Given the description of an element on the screen output the (x, y) to click on. 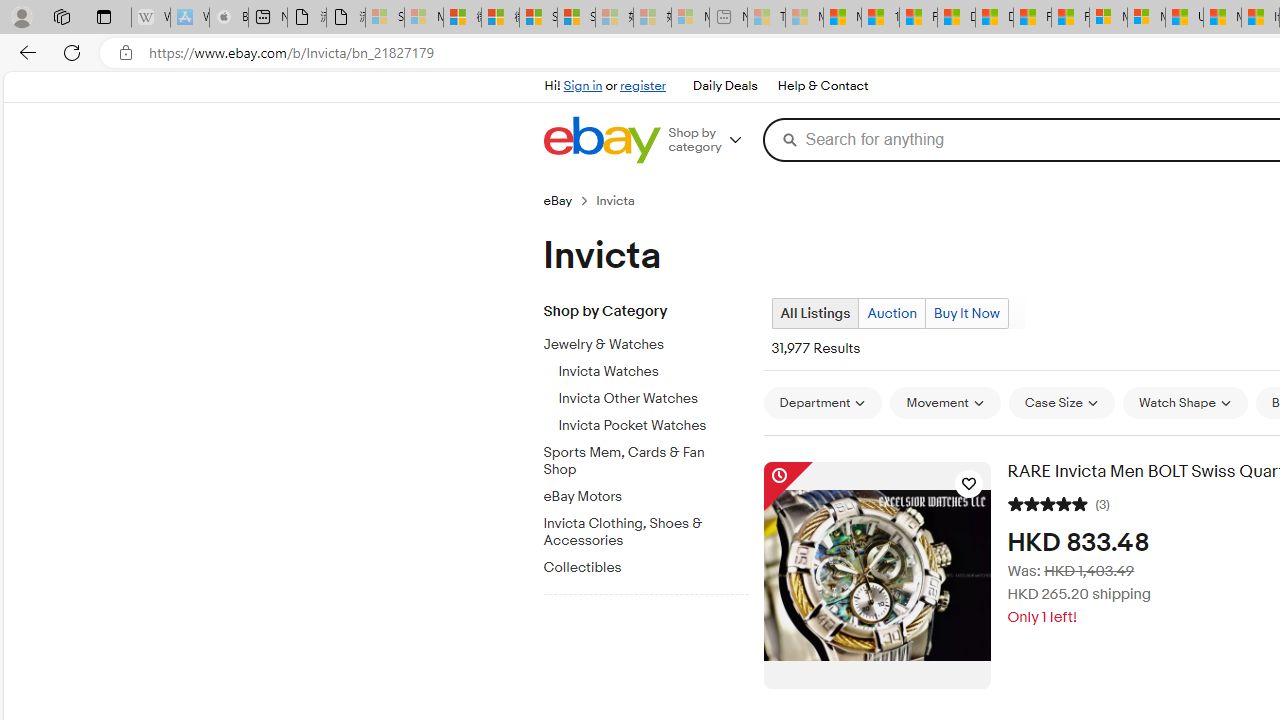
Invicta Other Watches (653, 395)
eBay Home (601, 139)
Watch Shape (1185, 403)
Collectibles (653, 564)
Collectibles (637, 568)
eBay (569, 200)
Watch Shape (1185, 402)
eBay Motors (637, 497)
eBay (557, 200)
